Given the description of an element on the screen output the (x, y) to click on. 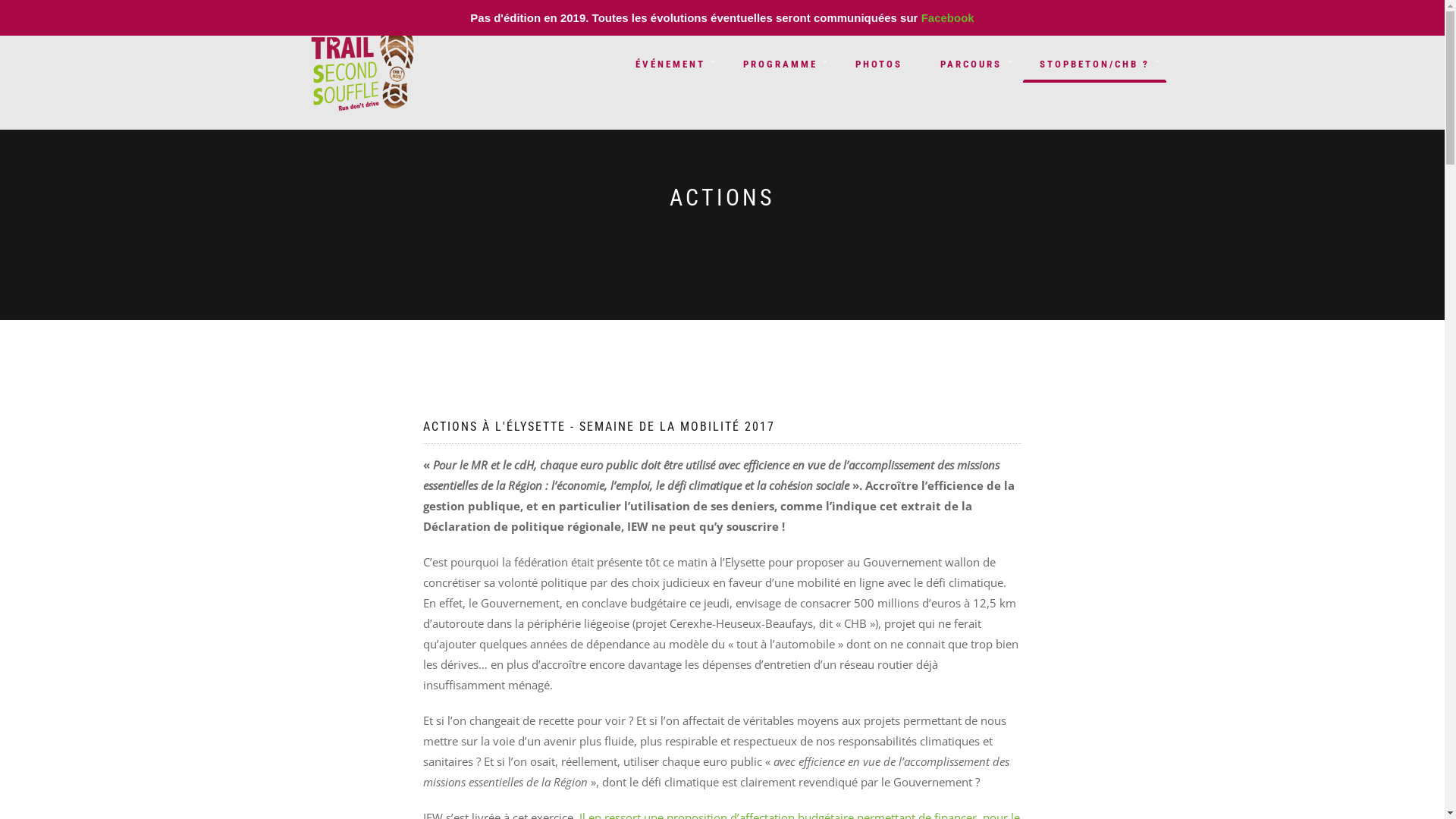
PROGRAMME Element type: text (780, 63)
Facebook Element type: text (947, 17)
STOPBETON/CHB ? Element type: text (1093, 63)
PHOTOS Element type: text (878, 63)
PARCOURS Element type: text (970, 63)
